Given the description of an element on the screen output the (x, y) to click on. 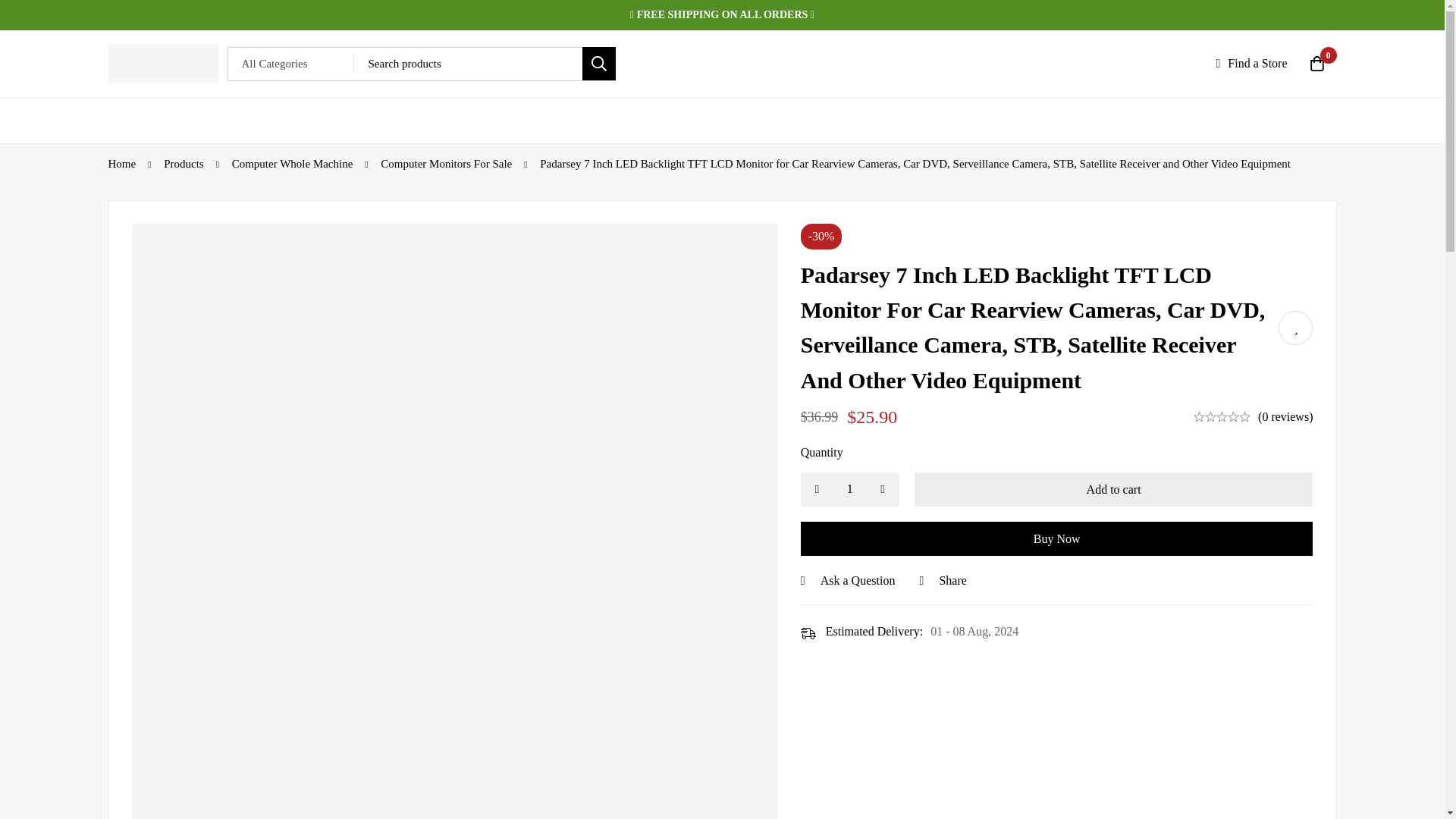
Computer Monitors For Sale (446, 163)
Products (183, 163)
Add to cart (1113, 489)
- (816, 489)
0 (1317, 63)
Share (942, 580)
Buy Now (1056, 538)
Ask a Question (847, 580)
Add To Wishlist (1295, 327)
1 (849, 489)
Computer Whole Machine (292, 163)
Home (121, 163)
Find a Store (1251, 63)
Search for: (483, 63)
